Given the description of an element on the screen output the (x, y) to click on. 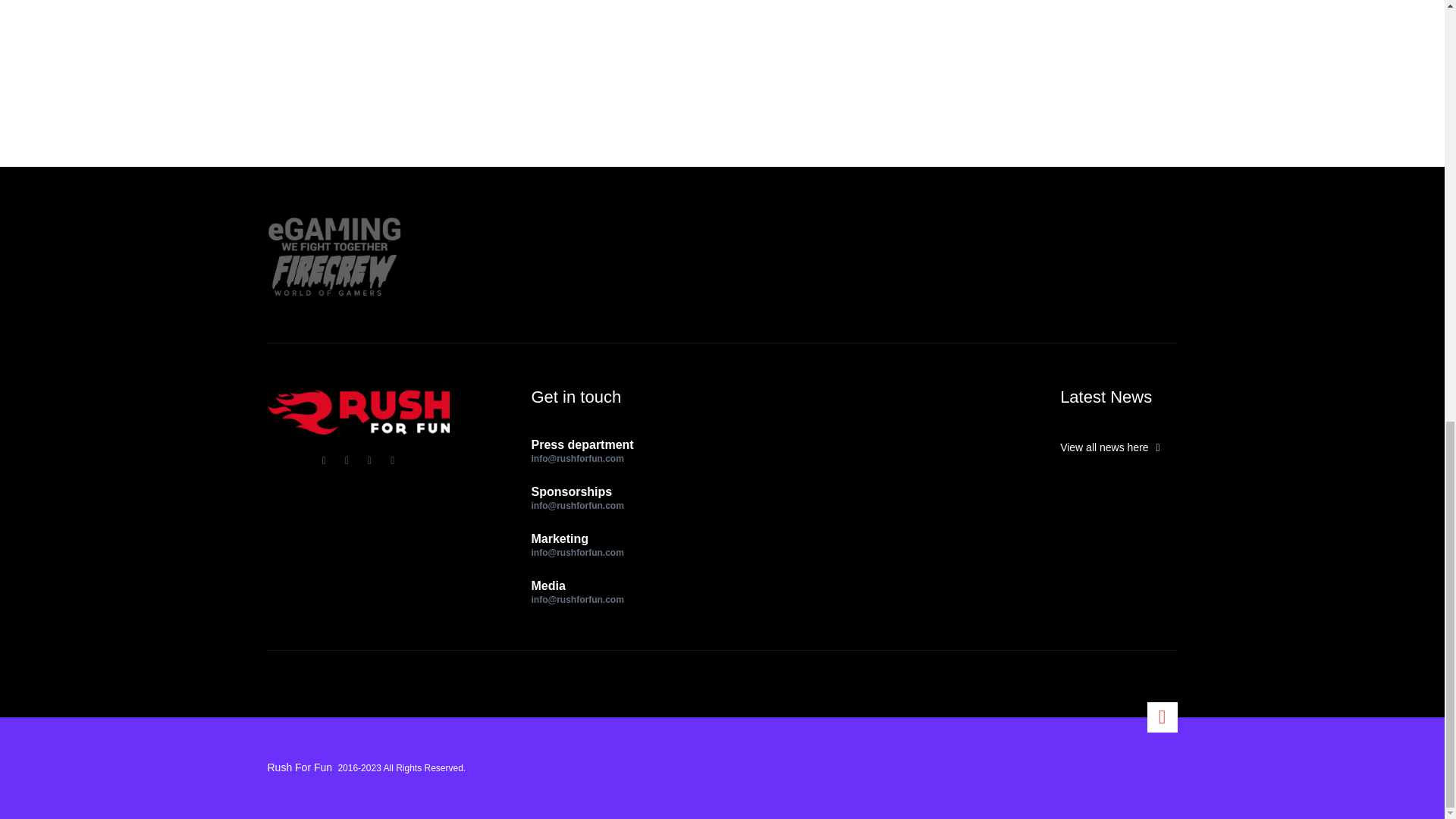
View all news here (1117, 447)
Rush For Fun (298, 767)
